Given the description of an element on the screen output the (x, y) to click on. 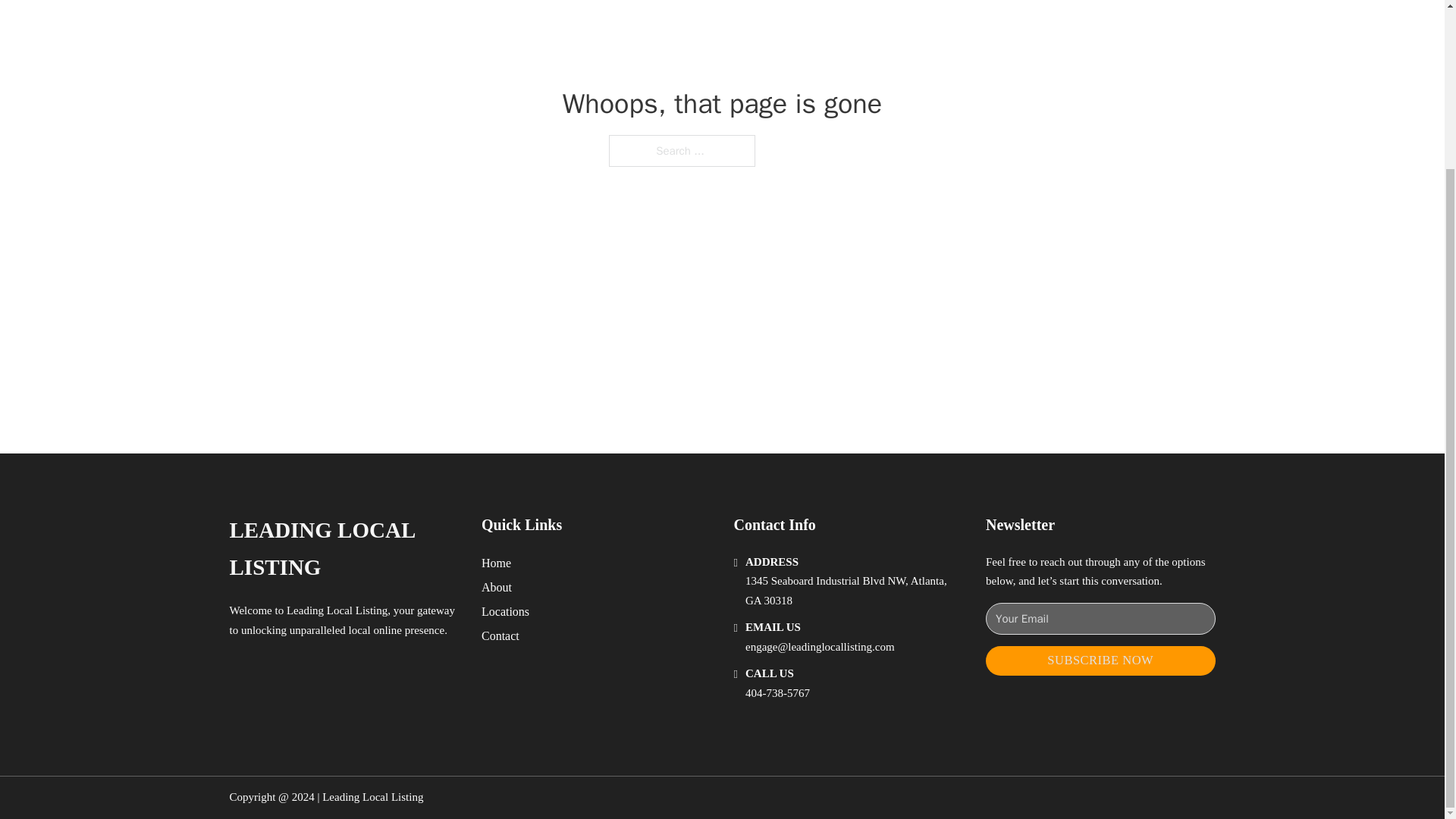
About (496, 587)
Home (496, 562)
SUBSCRIBE NOW (1100, 660)
Locations (505, 611)
Contact (500, 635)
LEADING LOCAL LISTING (343, 549)
404-738-5767 (777, 693)
